Given the description of an element on the screen output the (x, y) to click on. 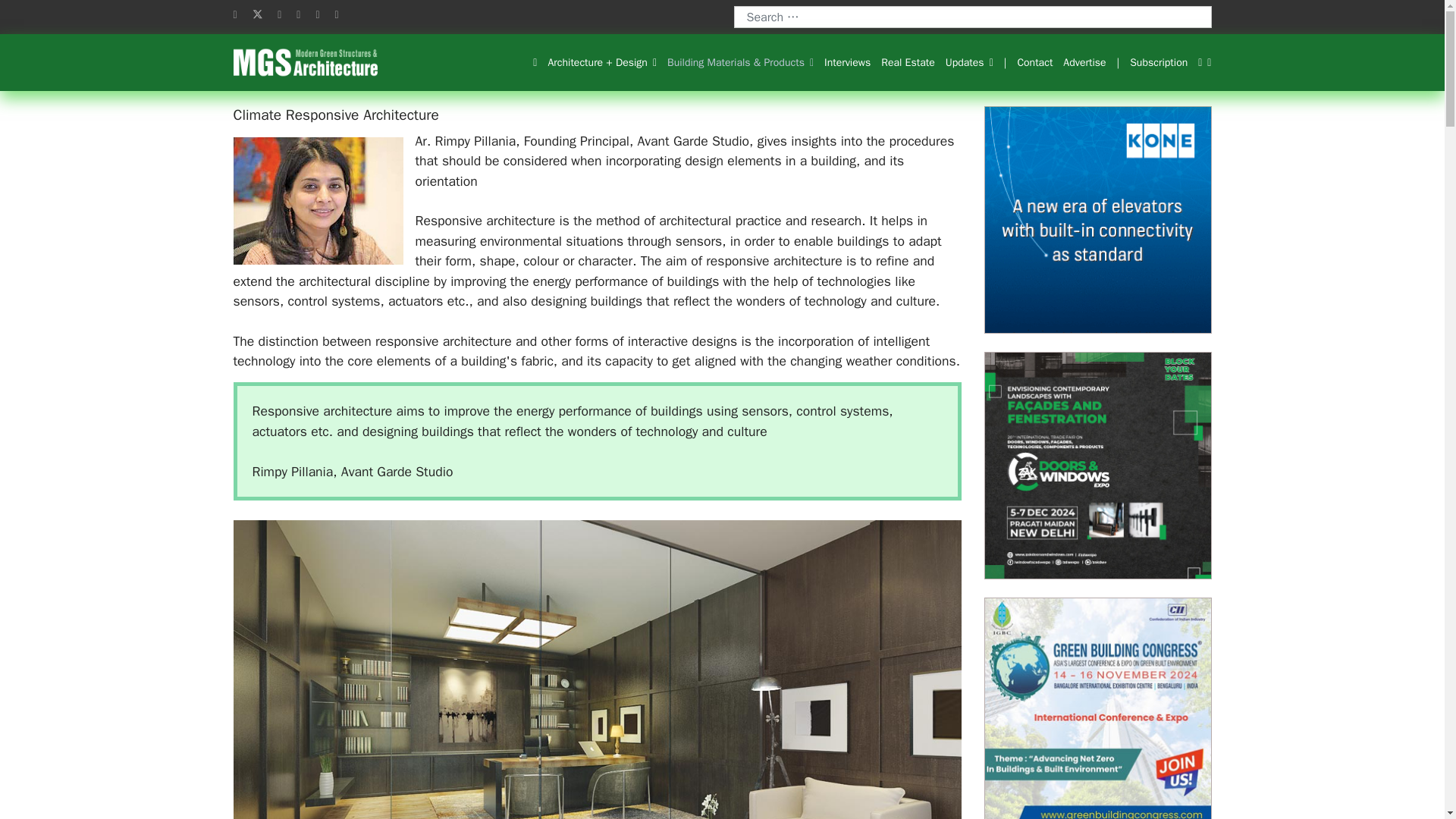
Real Estate (907, 62)
Subscription (1158, 62)
Interviews (847, 62)
Contact (1034, 62)
Advertise (1084, 62)
